Given the description of an element on the screen output the (x, y) to click on. 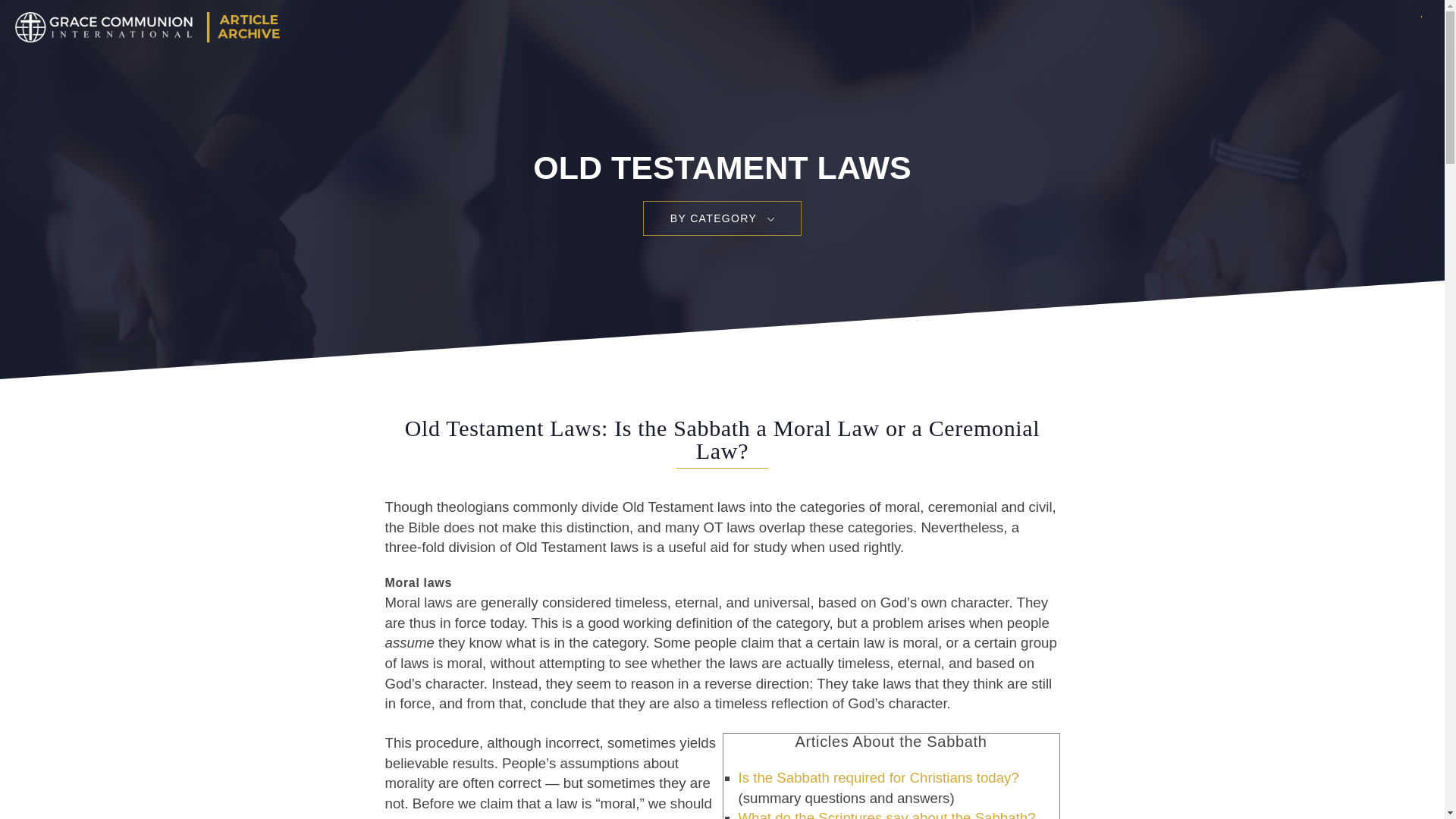
GCI Archive (144, 27)
